Given the description of an element on the screen output the (x, y) to click on. 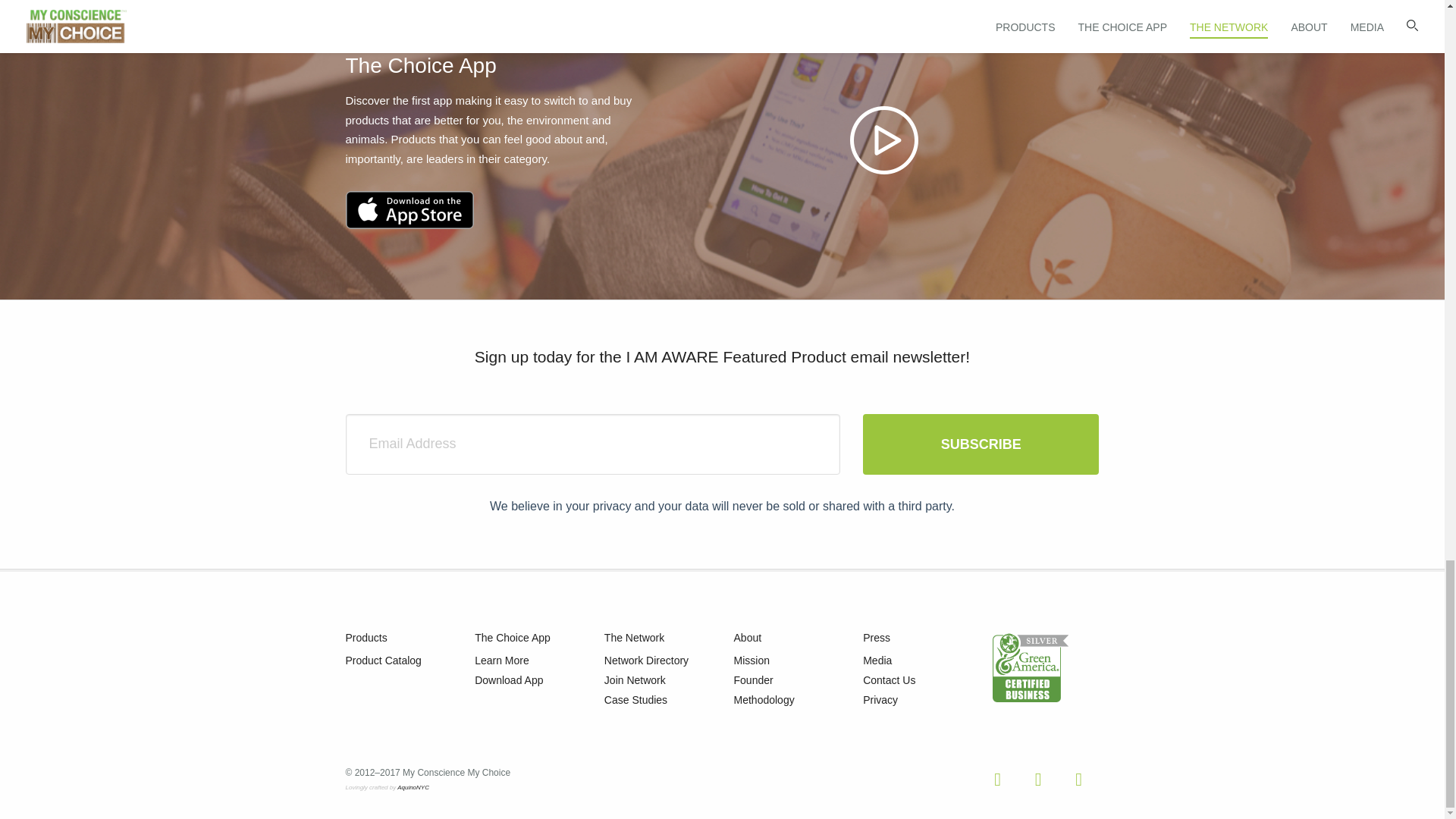
Founder (753, 680)
Case Studies (635, 699)
Contact Us (889, 680)
SUBSCRIBE (981, 444)
Product Catalog (384, 660)
Media (877, 660)
Mission (751, 660)
AquinoNYC (413, 787)
Privacy (880, 699)
Network Directory (646, 660)
Learn More (501, 660)
Download App (508, 680)
Join Network (634, 680)
Methodology (763, 699)
